Given the description of an element on the screen output the (x, y) to click on. 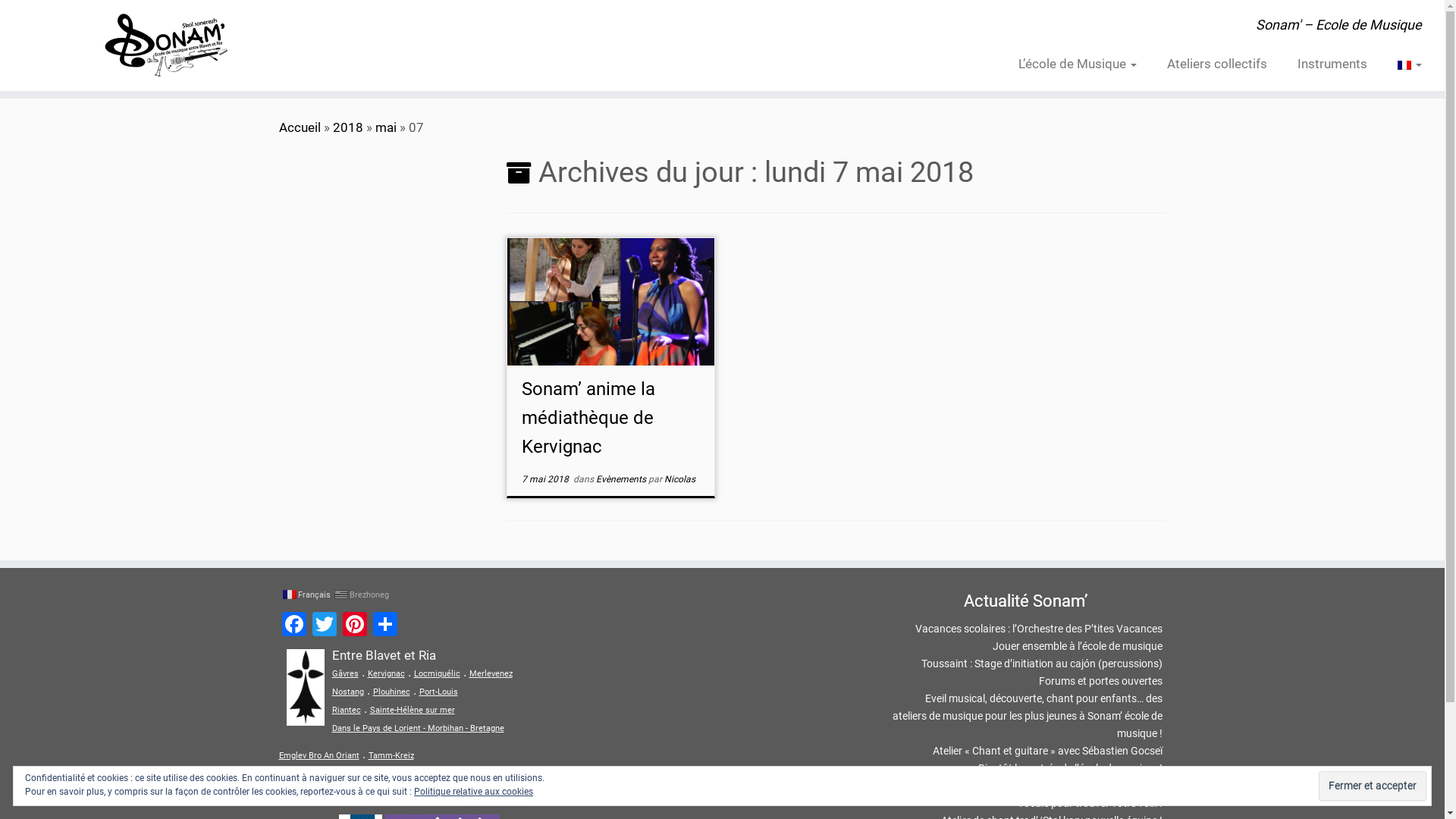
Dans le Pays de Lorient - Morbihan - Bretagne Element type: text (418, 728)
mai Element type: text (384, 126)
Facebook Element type: text (294, 626)
Twitter Element type: text (324, 626)
Fermer et accepter Element type: text (1372, 785)
Accueil Element type: text (299, 126)
Forums et portes ouvertes Element type: text (1100, 680)
Partager Element type: text (385, 626)
Nostang Element type: text (348, 691)
Ateliers collectifs Element type: text (1216, 64)
Politique relative aux cookies Element type: text (473, 791)
Nicolas Element type: text (679, 478)
Pinterest Element type: text (354, 626)
Instruments Element type: text (1332, 64)
Plouhinec Element type: text (391, 691)
Rechercher Element type: text (495, 793)
Brezhoneg Element type: text (360, 594)
Emglev Bro An Oriant Element type: text (319, 755)
7 mai 2018 Element type: text (544, 478)
Merlevenez Element type: text (489, 673)
Tamm-Kreiz Element type: text (391, 755)
Kervignac Element type: text (385, 673)
2018 Element type: text (347, 126)
Riantec Element type: text (346, 710)
Port-Louis Element type: text (437, 691)
